Given the description of an element on the screen output the (x, y) to click on. 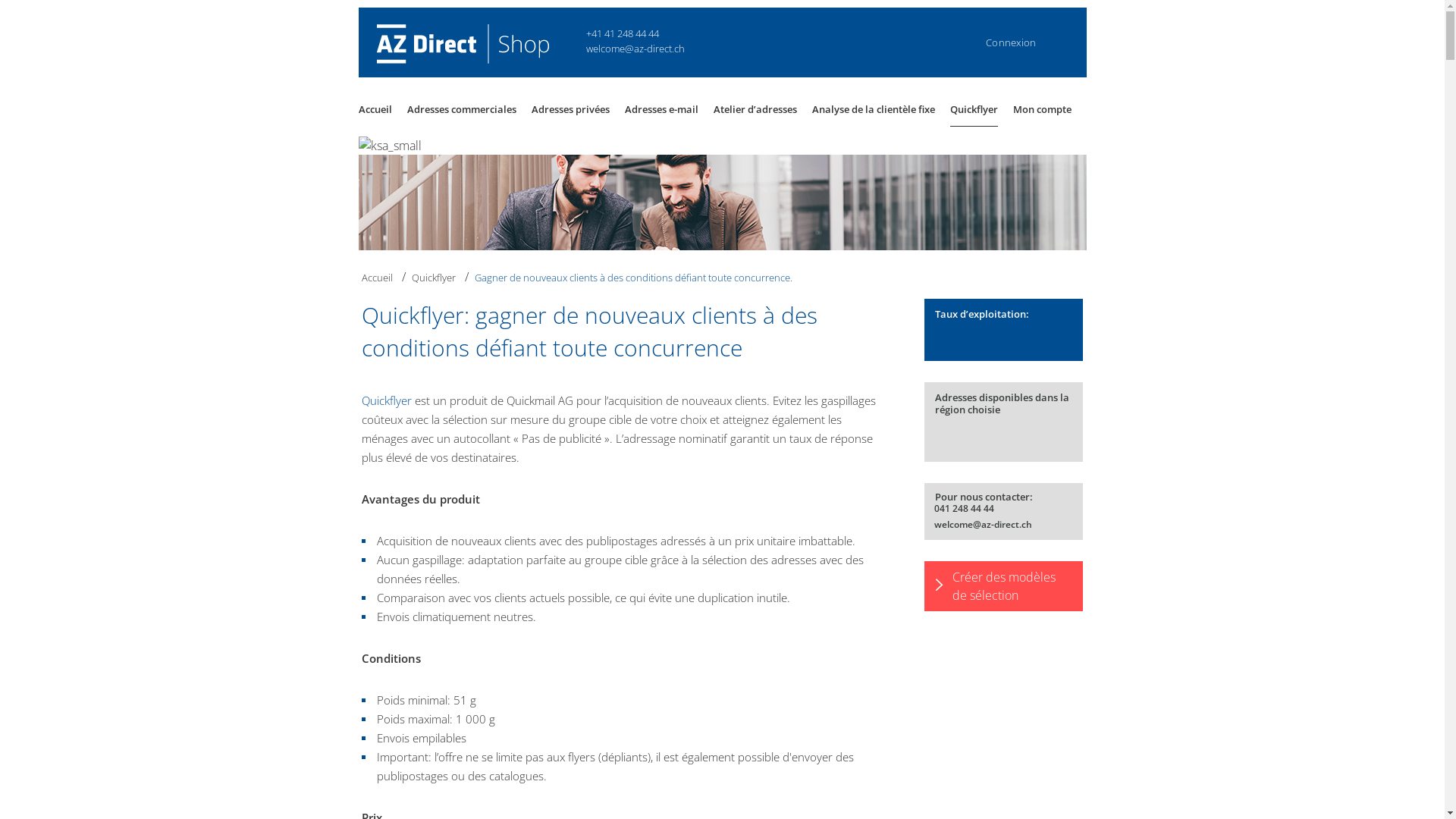
  Element type: text (472, 39)
Mon compte Element type: text (1042, 109)
Adresses e-mail Element type: text (661, 109)
Connexion Element type: text (1010, 41)
Accueil Element type: text (376, 277)
Quickflyer Element type: text (433, 277)
welcome@az-direct.ch Element type: text (980, 523)
Quickflyer Element type: text (973, 109)
Adresses commerciales Element type: text (461, 109)
Quickflyer Element type: text (386, 399)
Accueil Element type: text (375, 109)
welcome@az-direct.ch Element type: text (634, 47)
